Given the description of an element on the screen output the (x, y) to click on. 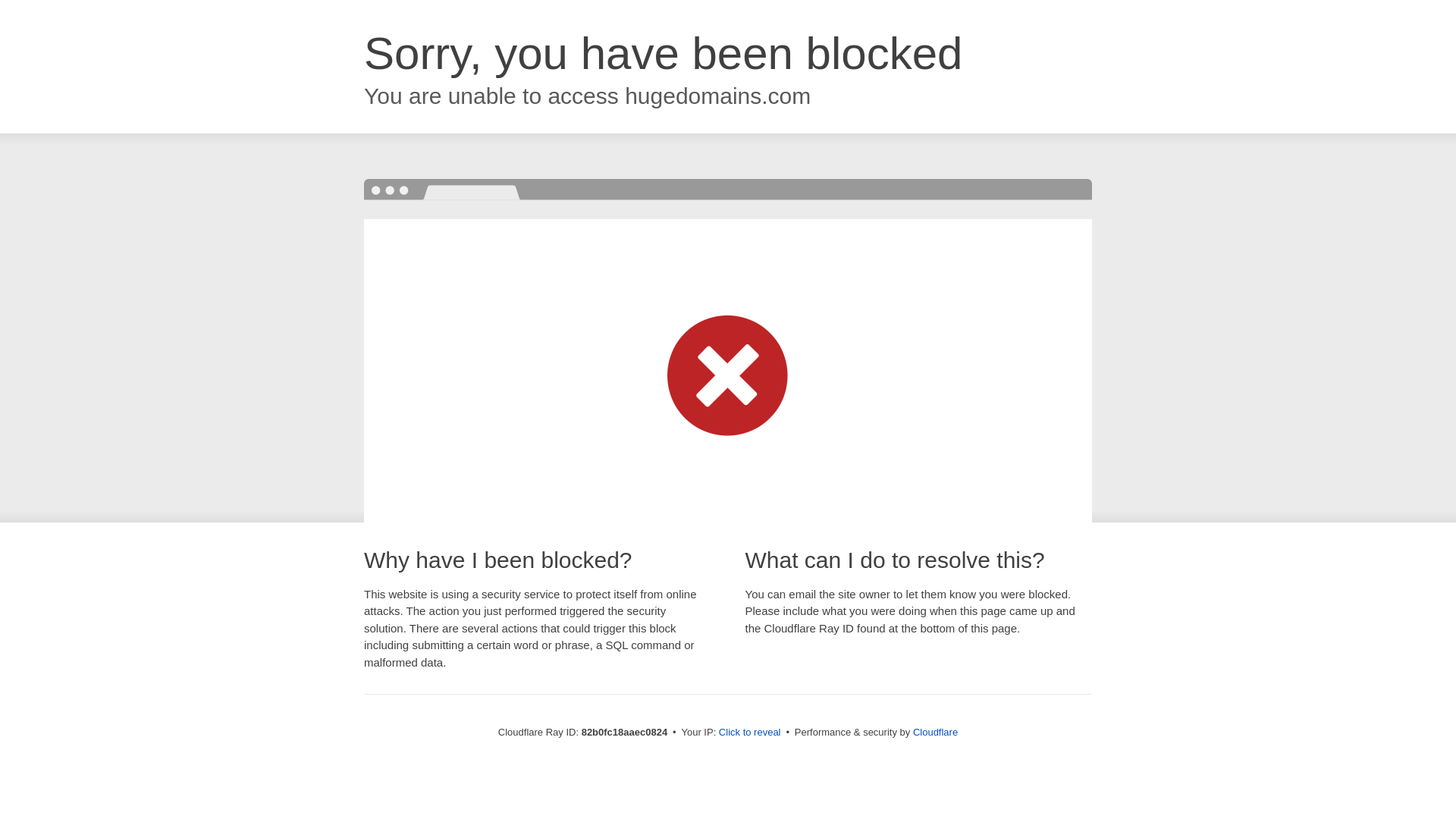
Cloudflare Element type: text (935, 731)
Click to reveal Element type: text (749, 732)
